Given the description of an element on the screen output the (x, y) to click on. 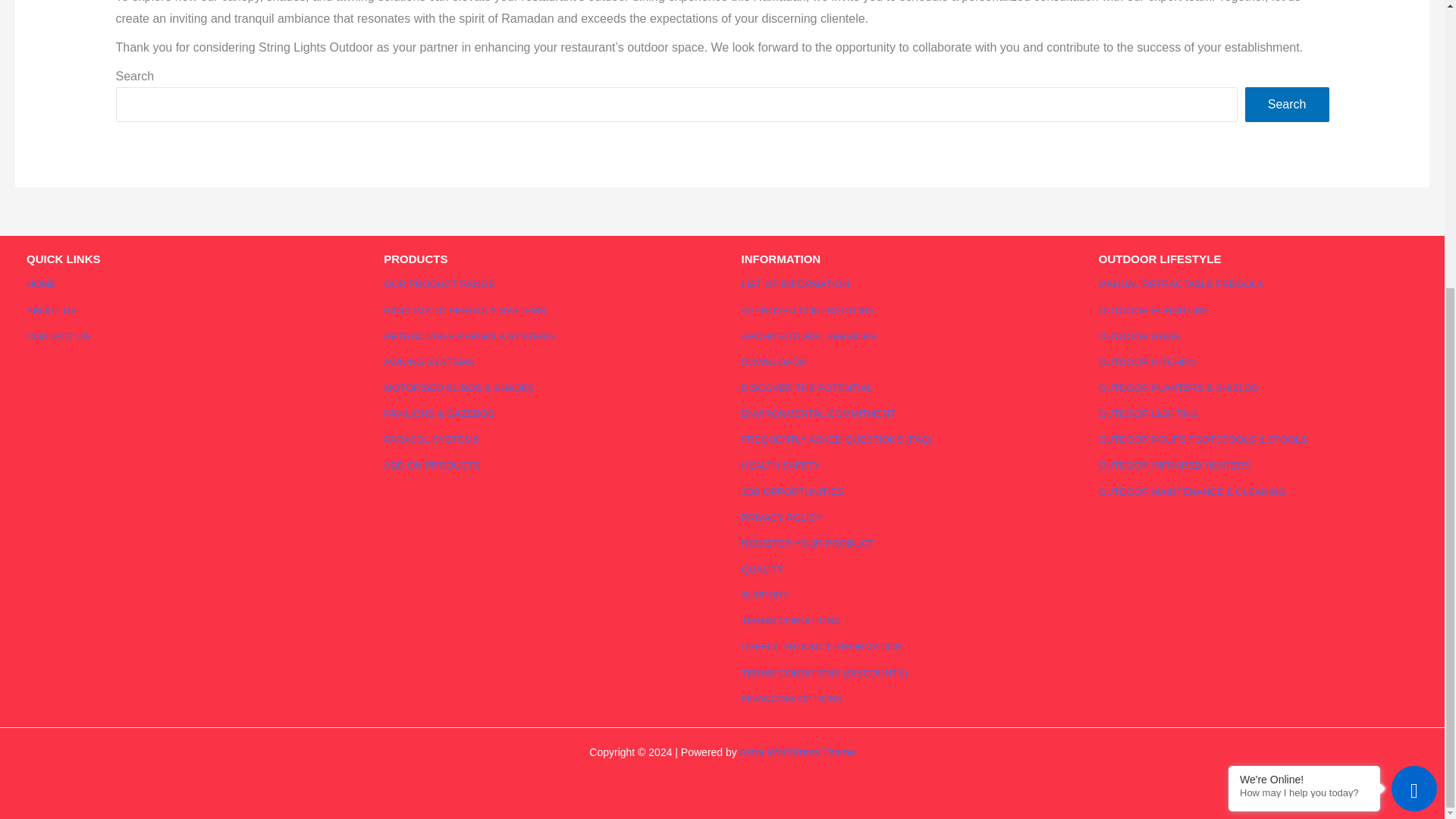
How may I help you today? (1304, 356)
We're Online! (1304, 342)
